Given the description of an element on the screen output the (x, y) to click on. 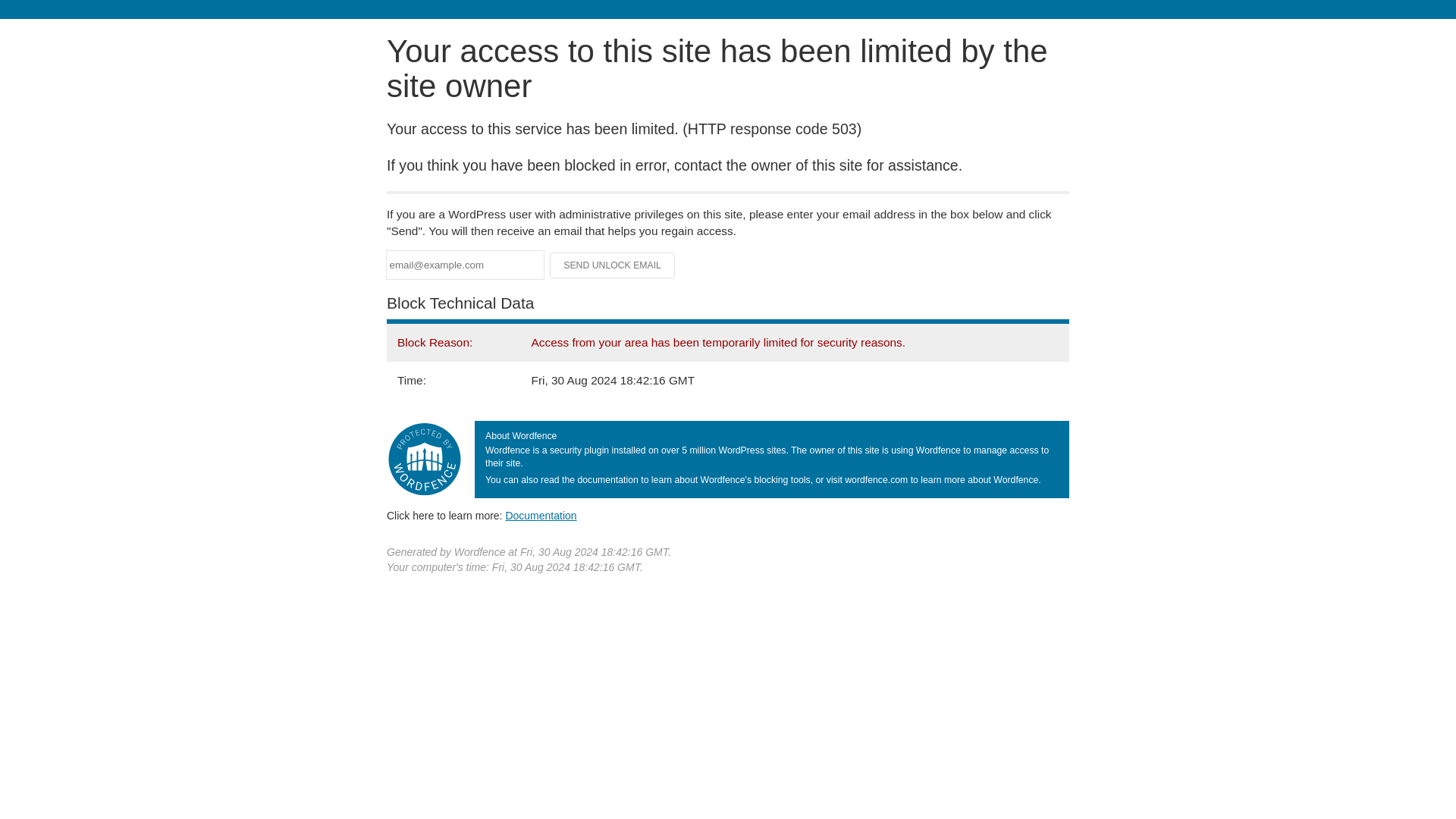
Documentation (540, 515)
Send Unlock Email (612, 265)
Send Unlock Email (612, 265)
